Given the description of an element on the screen output the (x, y) to click on. 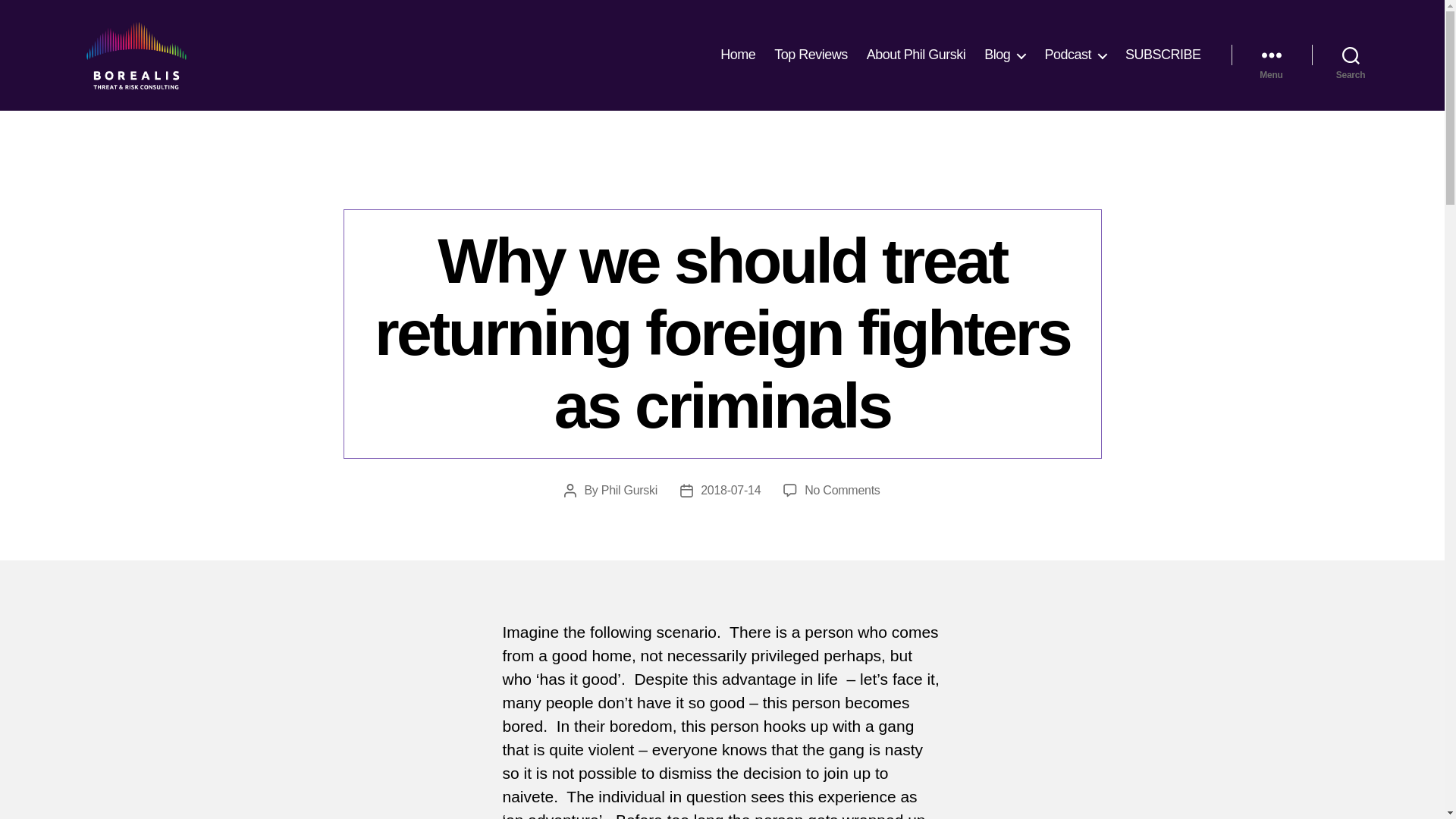
About Phil Gurski (916, 54)
Podcast (1074, 54)
Top Reviews (810, 54)
Home (737, 54)
Menu (1271, 55)
SUBSCRIBE (1163, 54)
Search (1350, 55)
Blog (1004, 54)
